Given the description of an element on the screen output the (x, y) to click on. 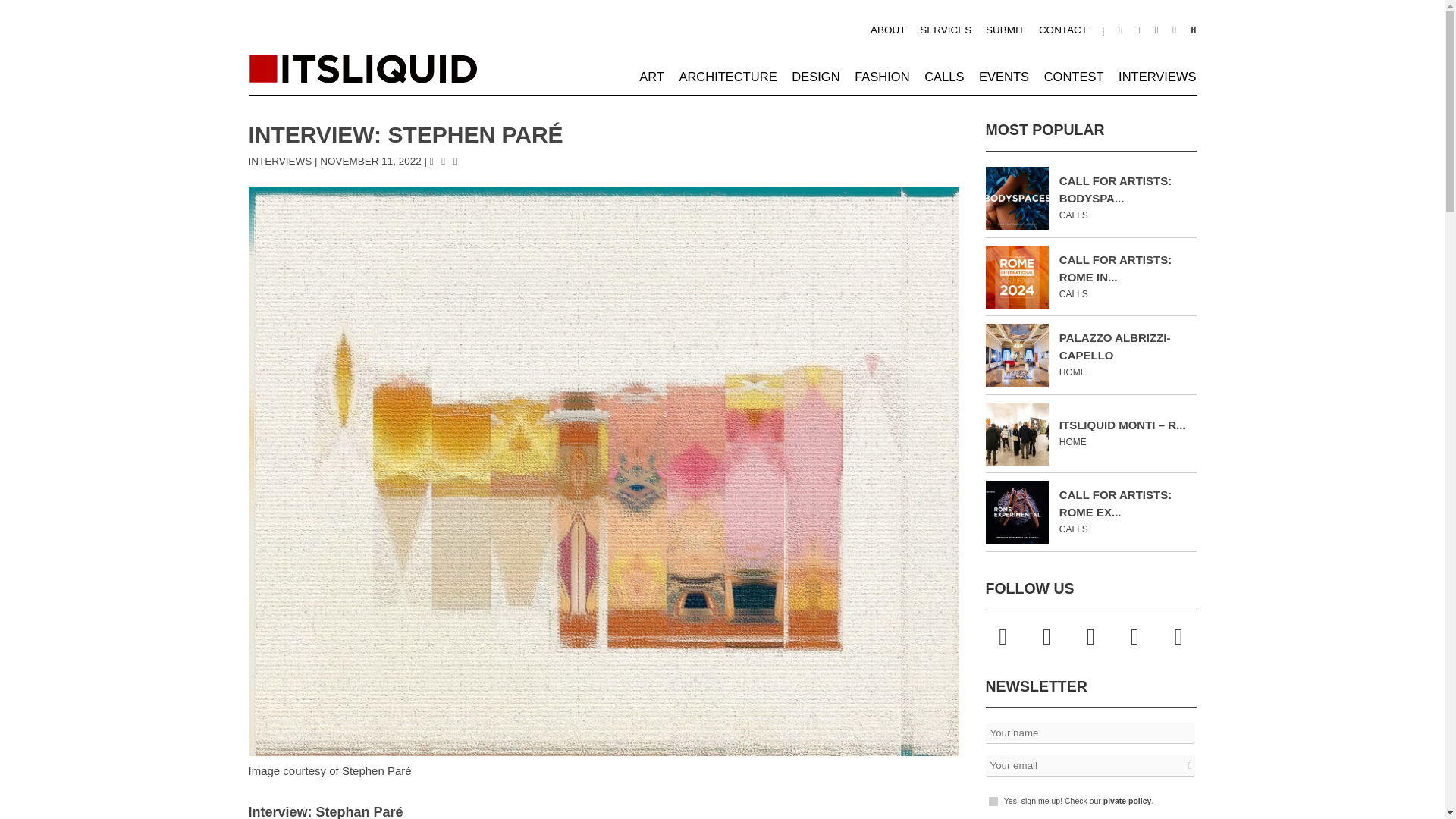
FASHION (881, 76)
CONTACT (1063, 30)
EVENTS (1003, 76)
ARCHITECTURE (727, 76)
ABOUT (887, 30)
SERVICES (945, 30)
consent (992, 800)
DESIGN (816, 76)
CALLS (943, 76)
SUBMIT (1005, 30)
ART (651, 76)
CONTEST (1073, 76)
CALL FOR ARTISTS: ROME EXPERIMENTAL 2024 (1115, 503)
Palazzo Albrizzi-Capello (1114, 346)
INTERVIEWS (280, 161)
